Given the description of an element on the screen output the (x, y) to click on. 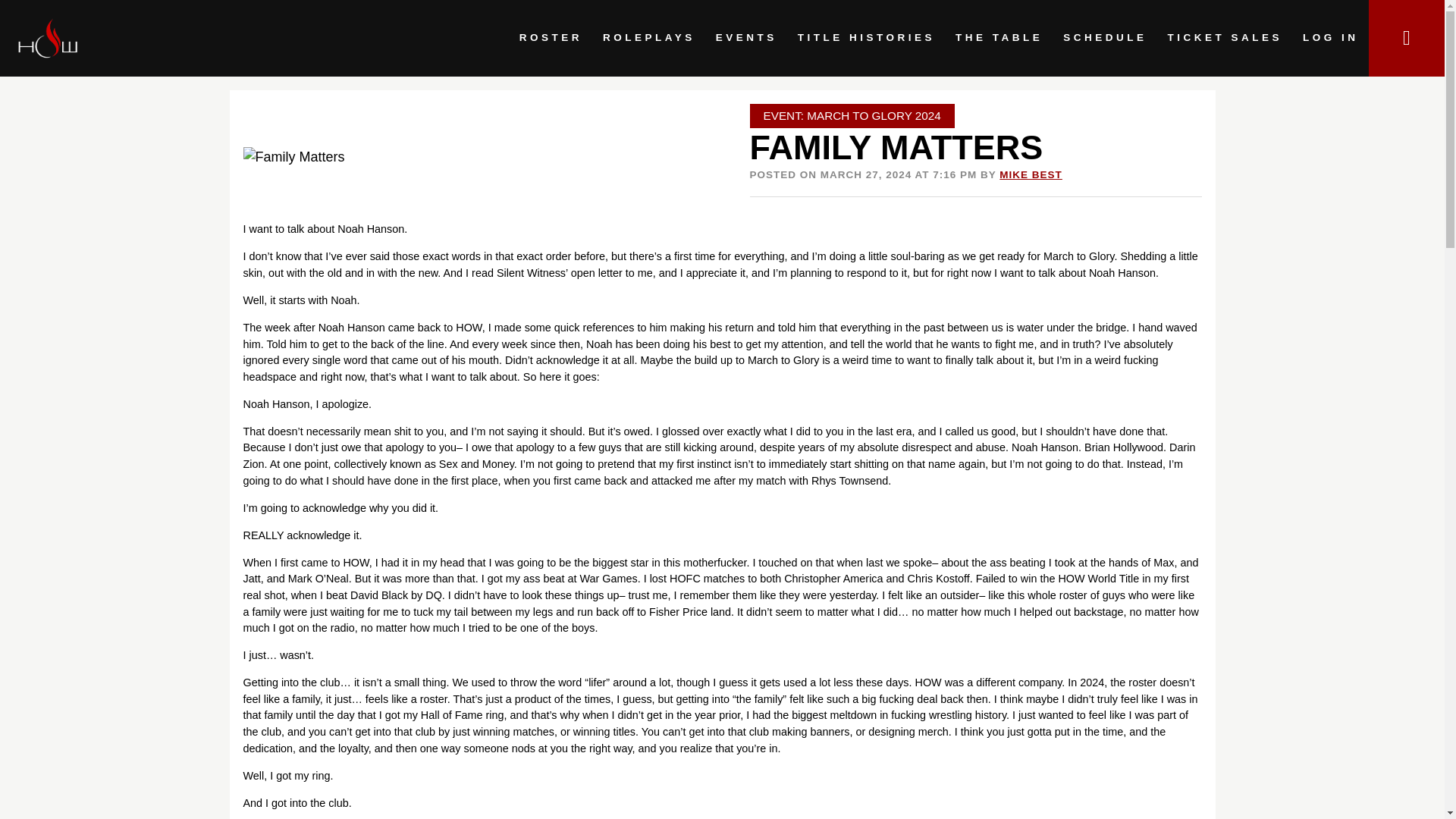
THE TABLE (998, 38)
SCHEDULE (1104, 38)
TITLE HISTORIES (865, 38)
ROSTER (550, 38)
TICKET SALES (1224, 38)
EVENTS (745, 38)
ROLEPLAYS (648, 38)
LOG IN (1330, 38)
